Given the description of an element on the screen output the (x, y) to click on. 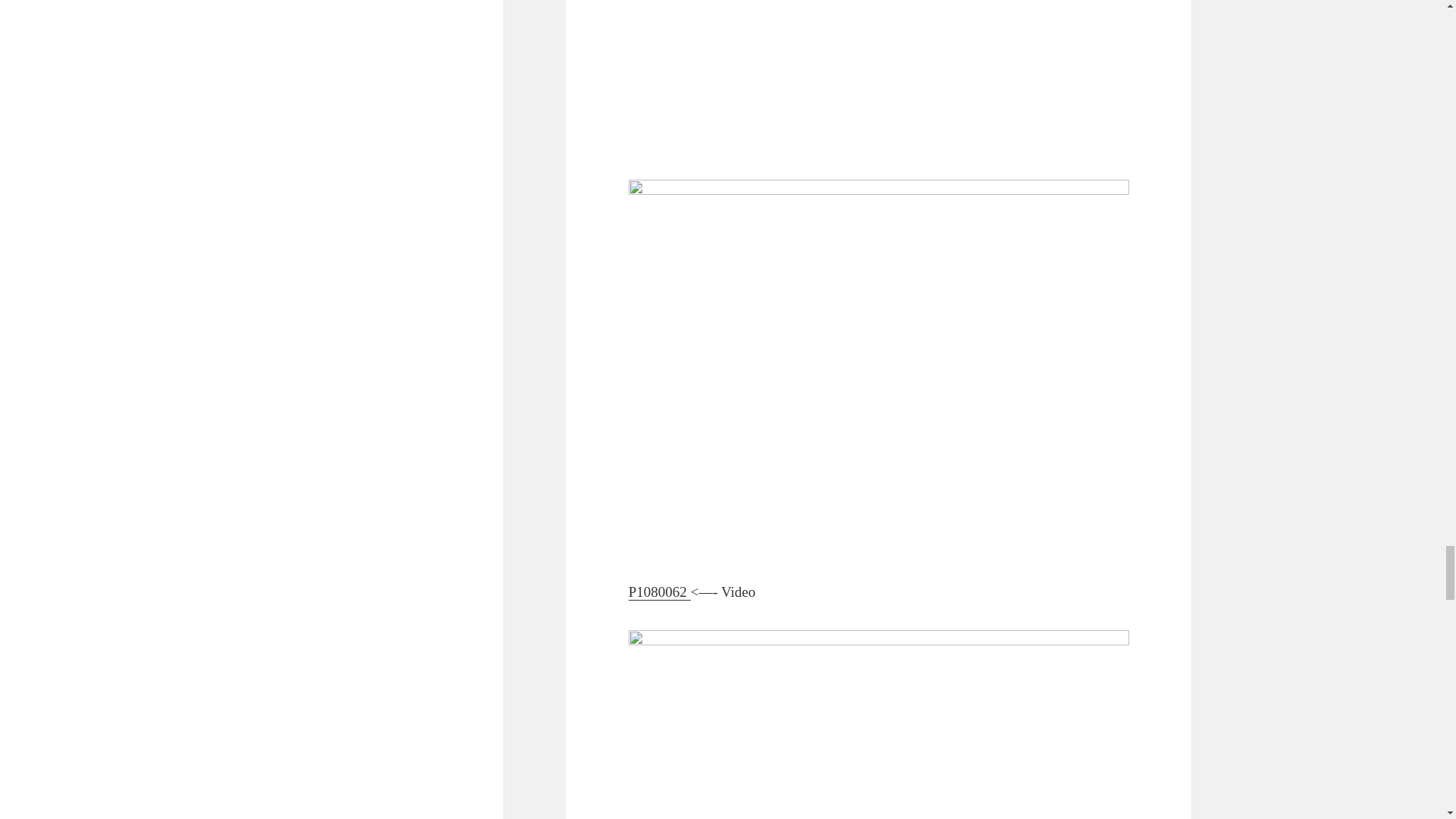
P1080062  (659, 591)
